Given the description of an element on the screen output the (x, y) to click on. 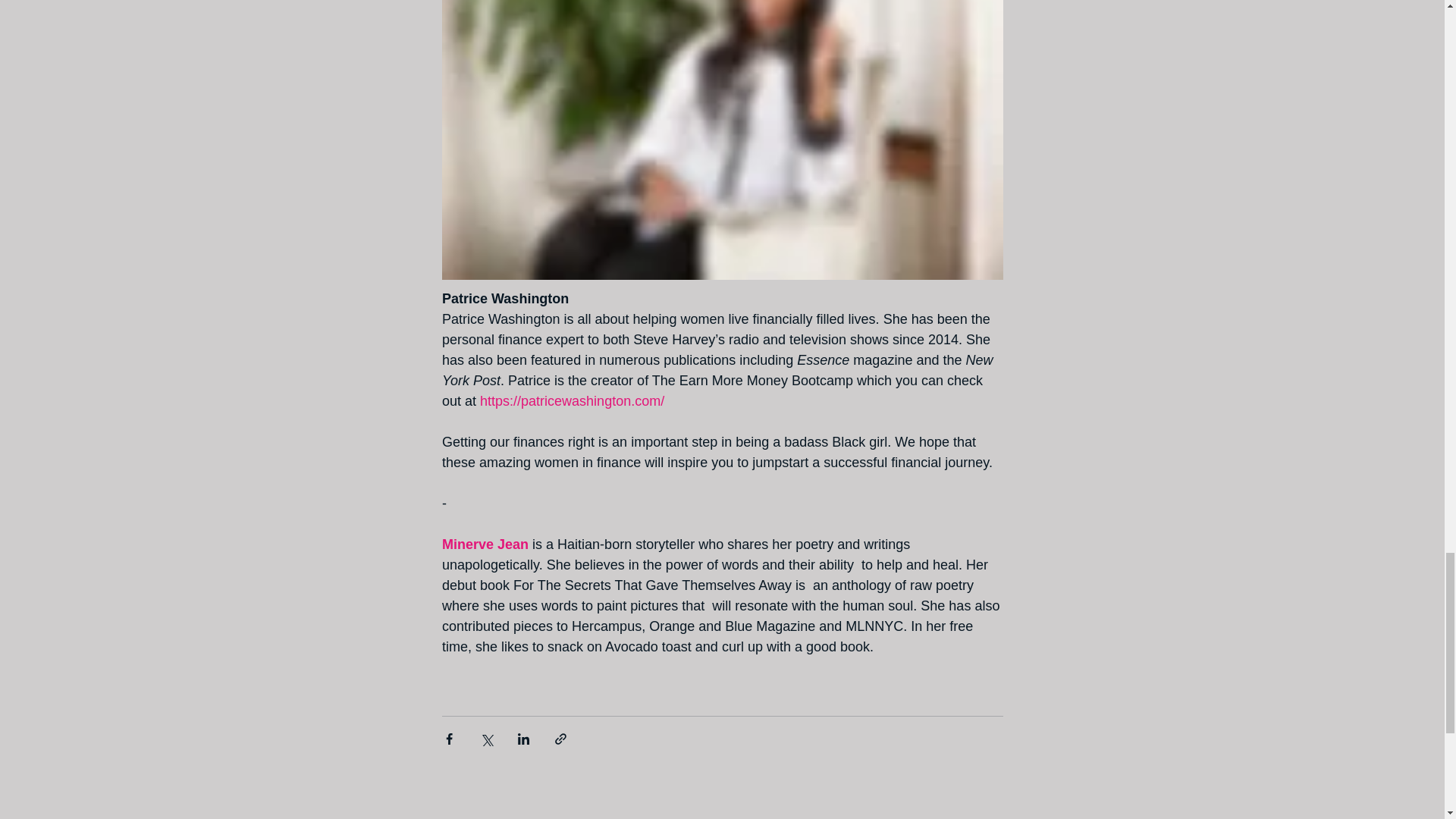
Minerve Jean (484, 544)
